Given the description of an element on the screen output the (x, y) to click on. 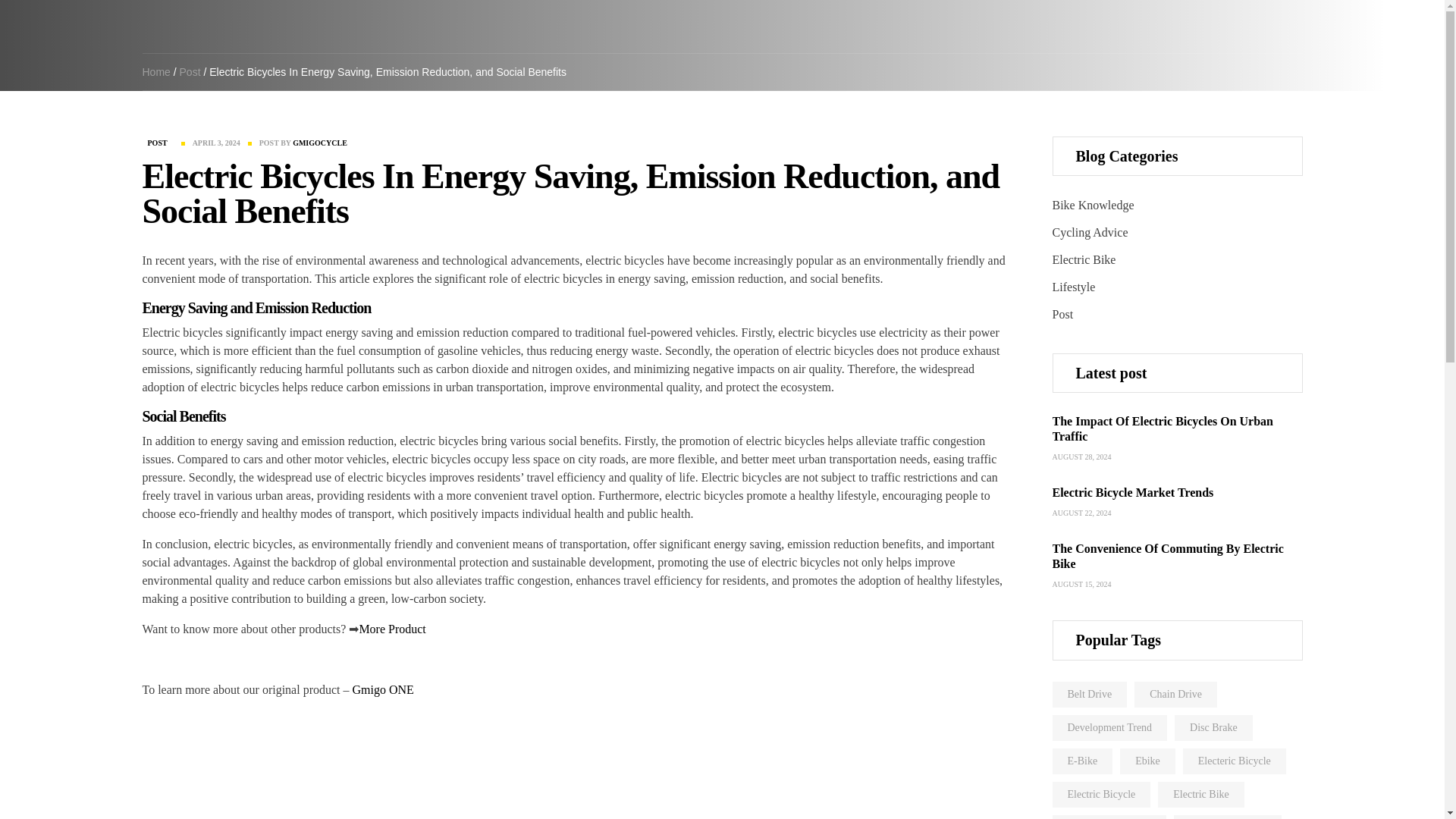
Cycling Advice (1090, 232)
POST (157, 142)
Electeric Bicycle (1233, 760)
APRIL 3, 2024 (216, 143)
Chain Drive (1175, 694)
Electric Bike (1084, 259)
The Convenience Of Commuting By Electric Bike (1168, 556)
Belt Drive (1089, 694)
More Product (391, 628)
Lifestyle (1074, 286)
